Given the description of an element on the screen output the (x, y) to click on. 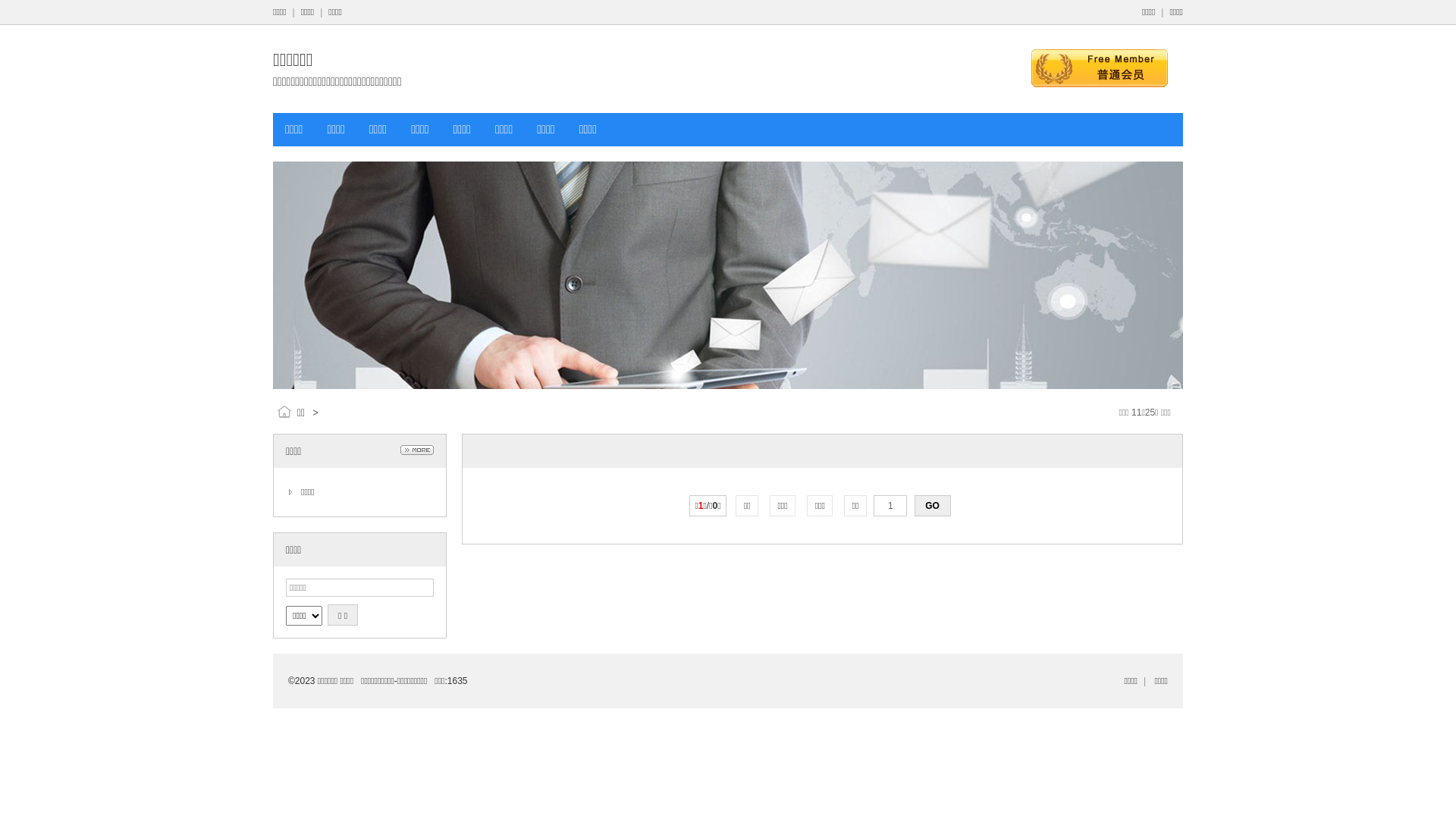
GO Element type: text (932, 505)
